Given the description of an element on the screen output the (x, y) to click on. 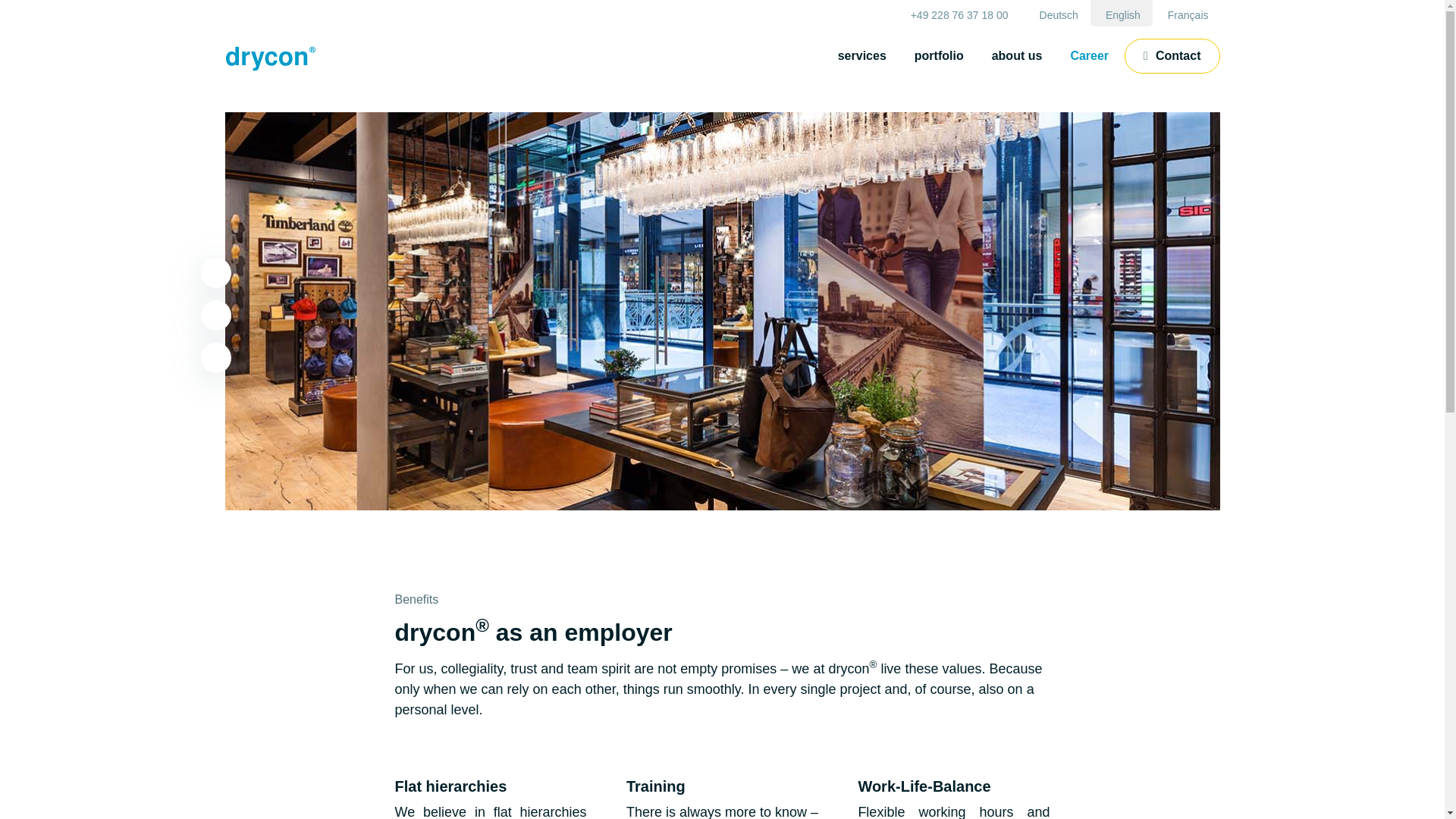
about us (1016, 56)
Deutsch (1057, 13)
English (1121, 13)
portfolio (938, 56)
Career (1089, 56)
services (861, 56)
Contact (1172, 55)
